Given the description of an element on the screen output the (x, y) to click on. 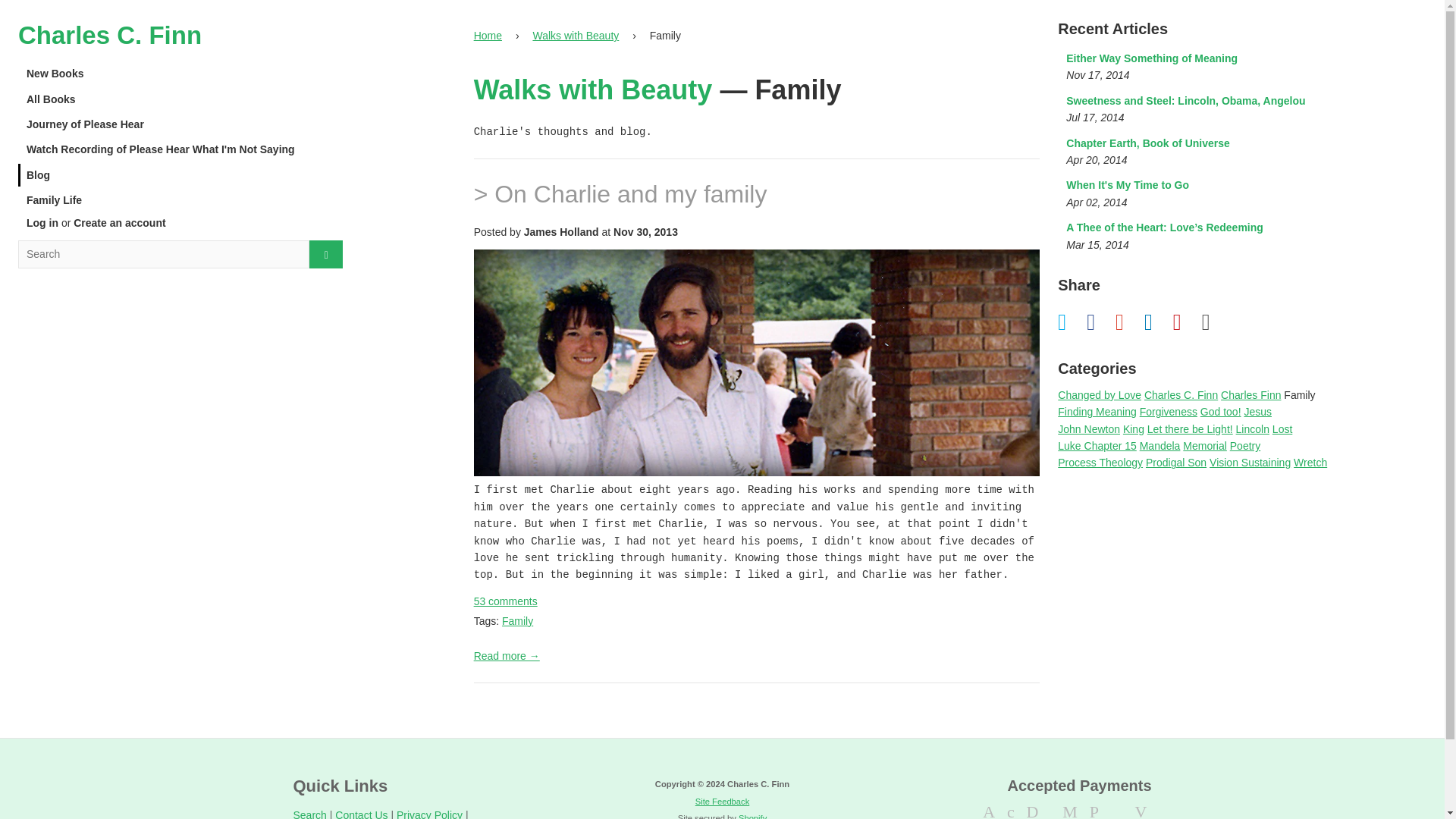
Create an account (119, 223)
Finding Meaning (1097, 411)
Watch Recording of Please Hear What I'm Not Saying (179, 149)
53 comments (505, 601)
New Books (179, 73)
Journey of Please Hear (1195, 109)
Log in (179, 124)
Show articles tagged Charles C. Finn (42, 223)
Home (1180, 395)
Share on LinkedIn (490, 35)
Back to the frontpage (1157, 321)
John Newton (490, 35)
Journey of Please Hear (1088, 428)
